Given the description of an element on the screen output the (x, y) to click on. 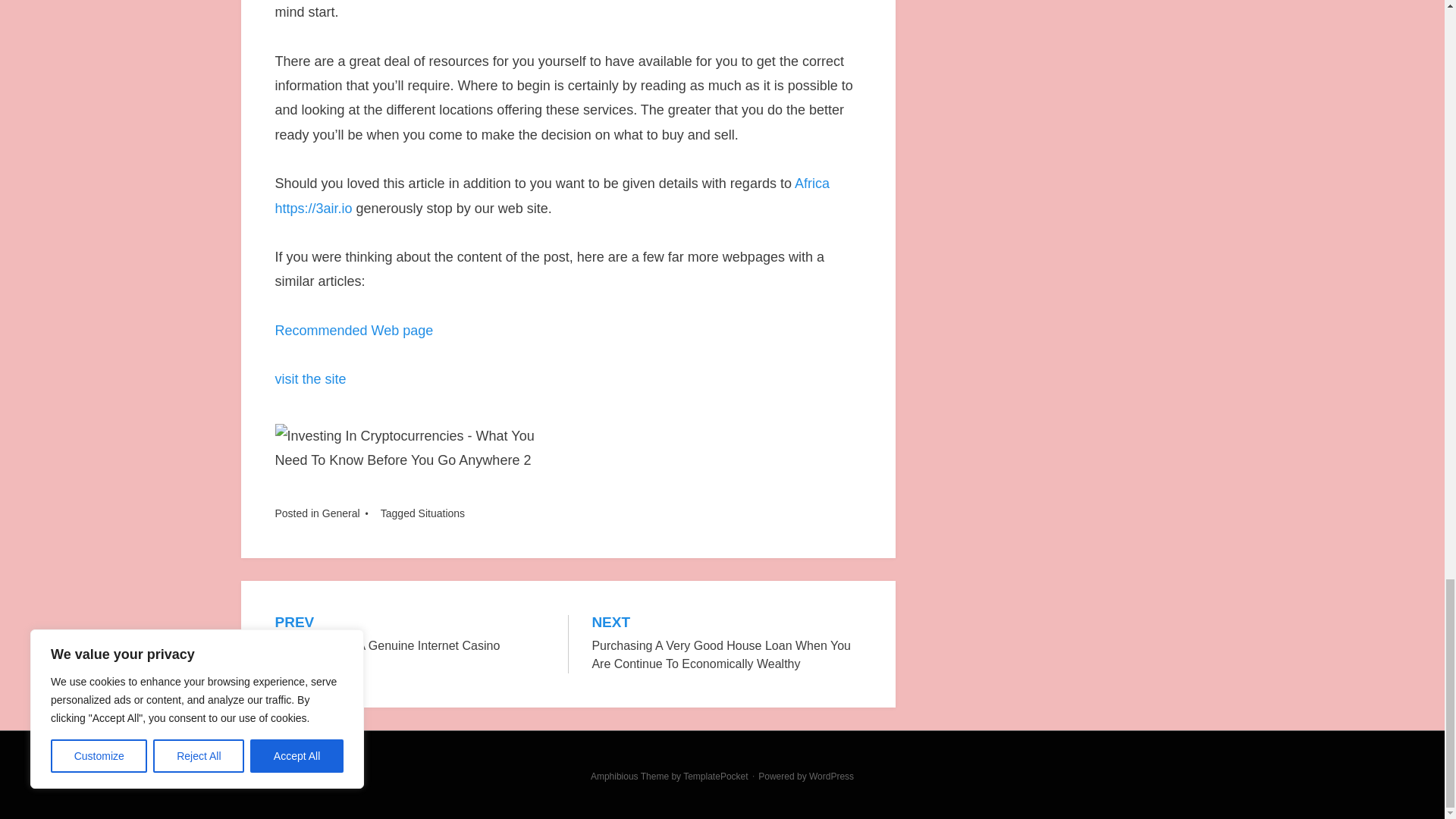
WordPress (831, 776)
Recommended Web page (353, 330)
Situations (441, 512)
TemplatePocket (715, 776)
General (340, 512)
visit the site (409, 635)
